Given the description of an element on the screen output the (x, y) to click on. 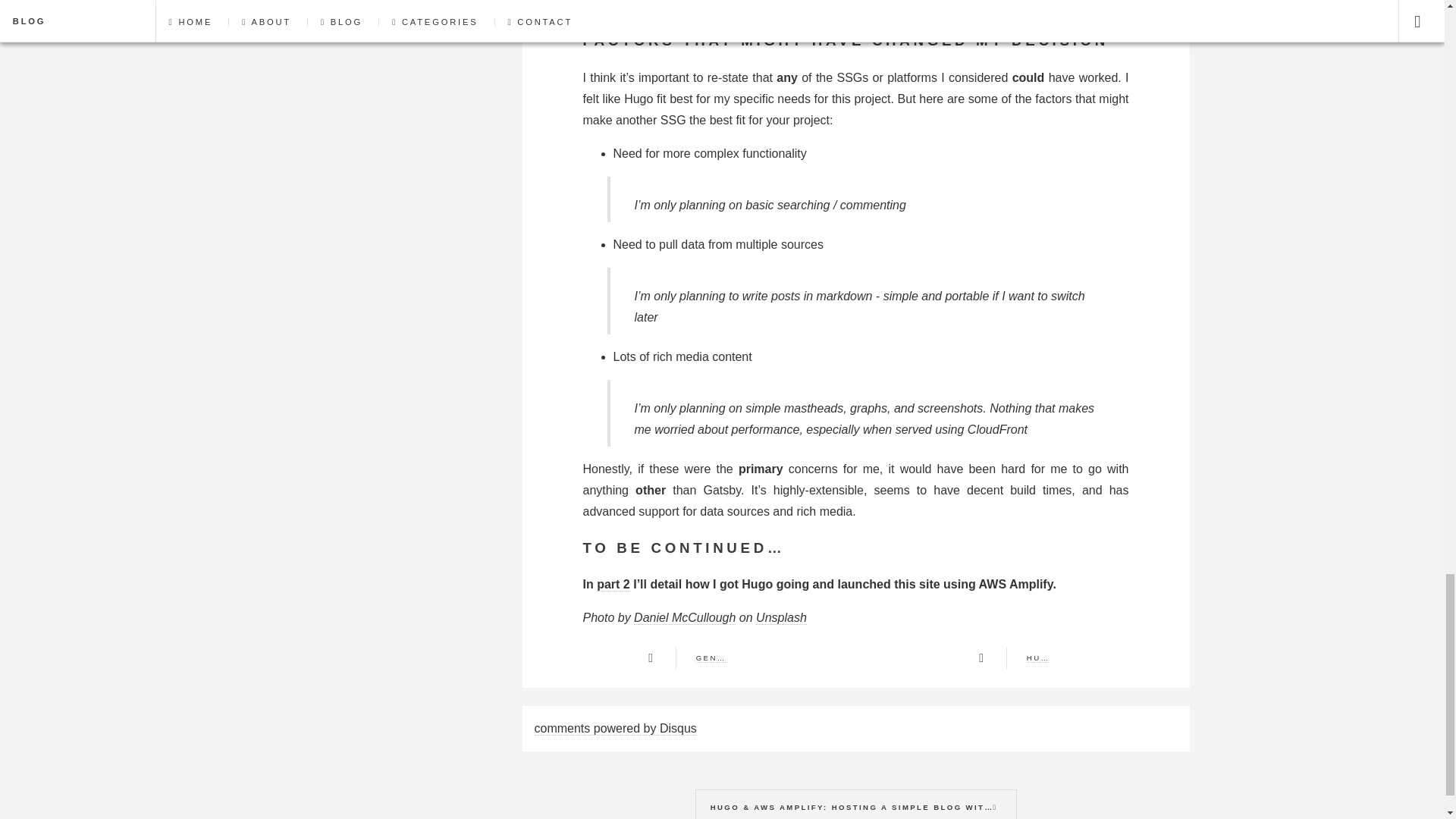
Daniel McCullough (684, 617)
part 2 (613, 584)
Unsplash (780, 617)
